Given the description of an element on the screen output the (x, y) to click on. 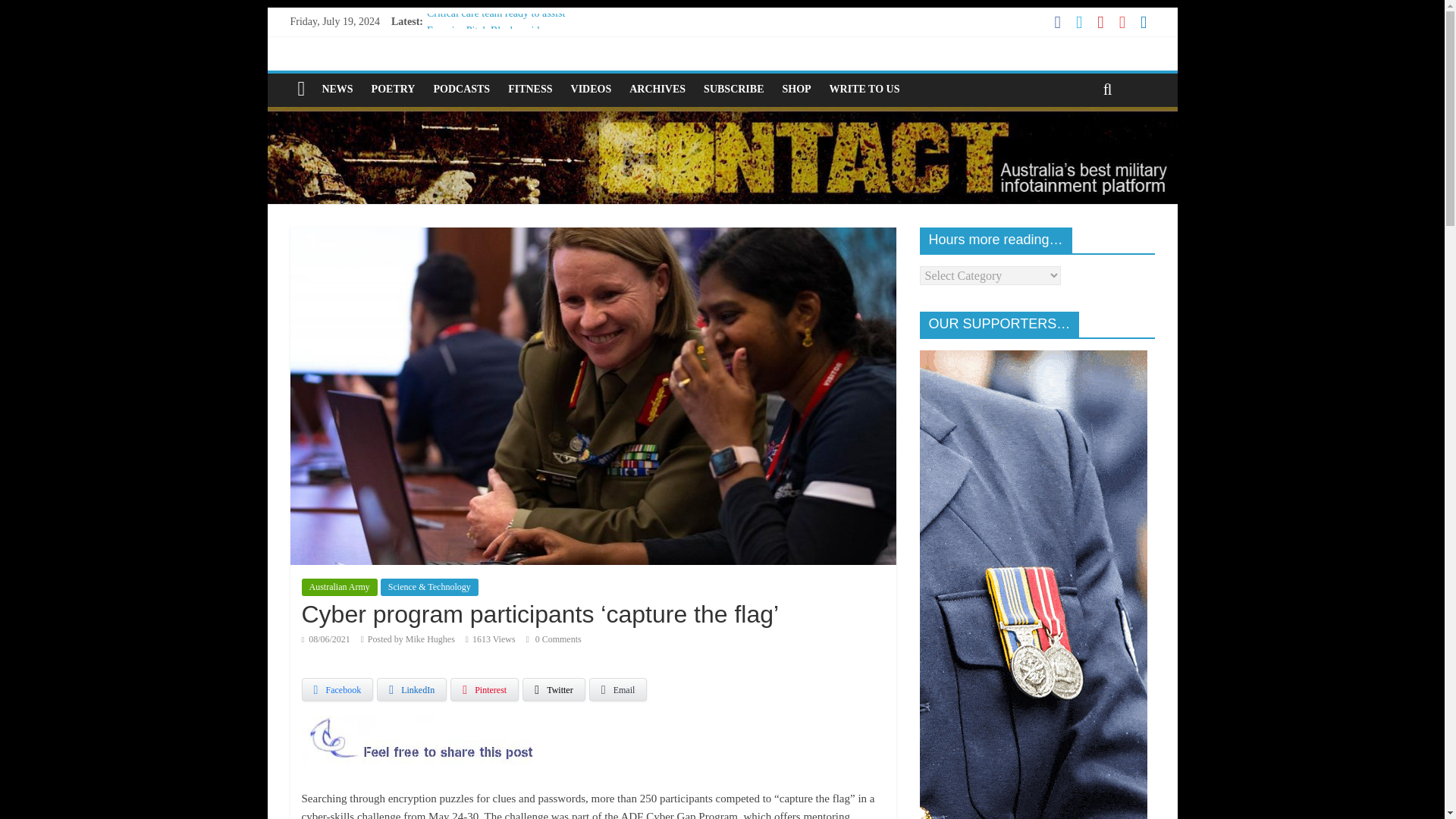
Share this article on Facebook (337, 689)
CONTACT magazine (721, 115)
NEWS (337, 89)
Critical care team ready to assist (495, 12)
LinkedIn (411, 689)
SUBSCRIBE (733, 89)
WRITE TO US (864, 89)
Pinterest (483, 689)
Email (618, 689)
FITNESS (529, 89)
Posted by Mike Hughes (411, 638)
PODCASTS (461, 89)
Critical care team ready to assist (495, 12)
Share this article on LinkedIn (411, 689)
Share this article on Twitter (553, 689)
